Given the description of an element on the screen output the (x, y) to click on. 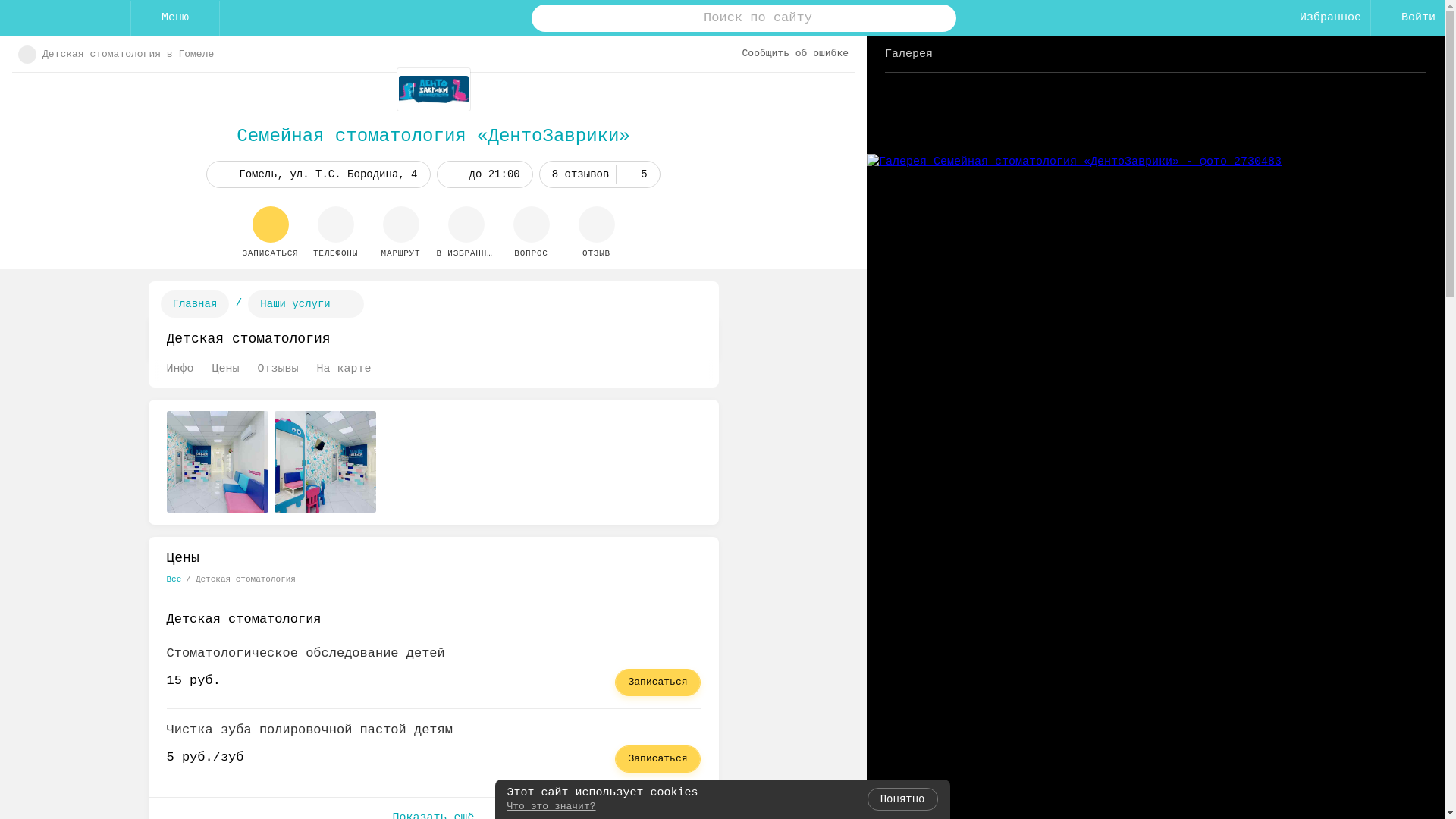
logo Element type: hover (65, 18)
